Given the description of an element on the screen output the (x, y) to click on. 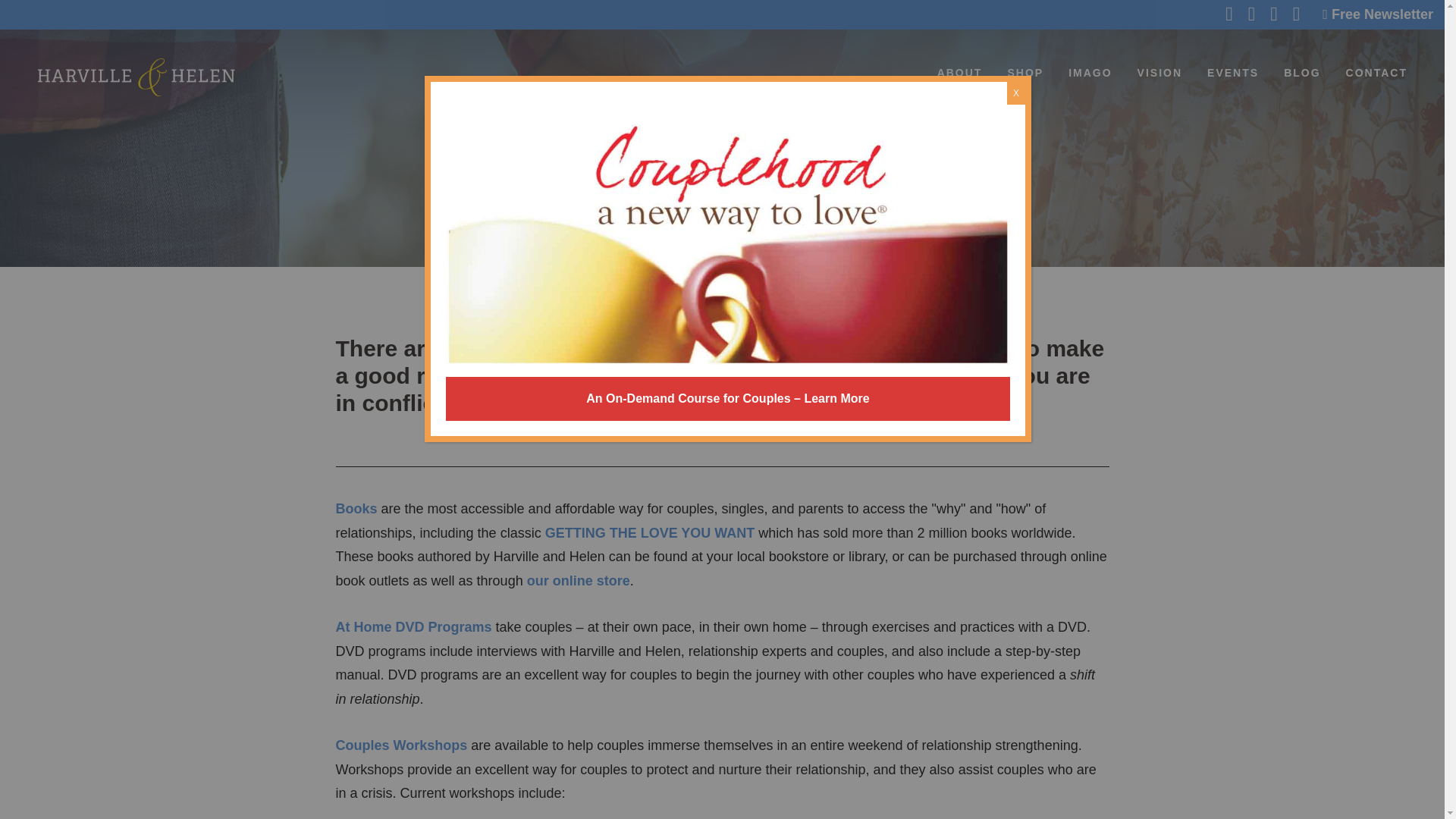
Couples Workshops (400, 744)
At Home DVD Programs (413, 626)
CONTACT (1376, 73)
our online store (578, 580)
Books (355, 508)
IMAGO (1090, 73)
GETTING THE LOVE YOU WANT (649, 531)
SHOP (1024, 73)
HARVILLE AND HELEN (135, 76)
